Given the description of an element on the screen output the (x, y) to click on. 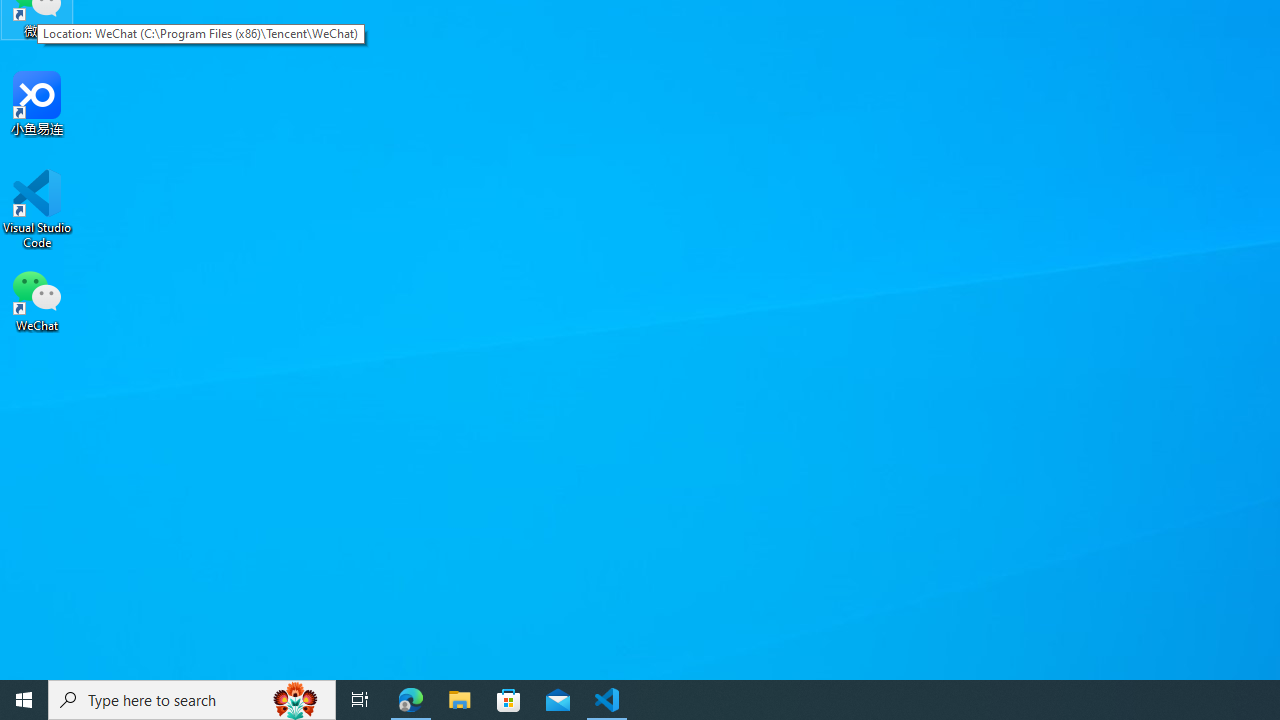
Visual Studio Code - 1 running window (607, 699)
Type here to search (191, 699)
Task View (359, 699)
Visual Studio Code (37, 209)
File Explorer (460, 699)
Search highlights icon opens search home window (295, 699)
Start (24, 699)
Microsoft Store (509, 699)
WeChat (37, 299)
Microsoft Edge - 1 running window (411, 699)
